Given the description of an element on the screen output the (x, y) to click on. 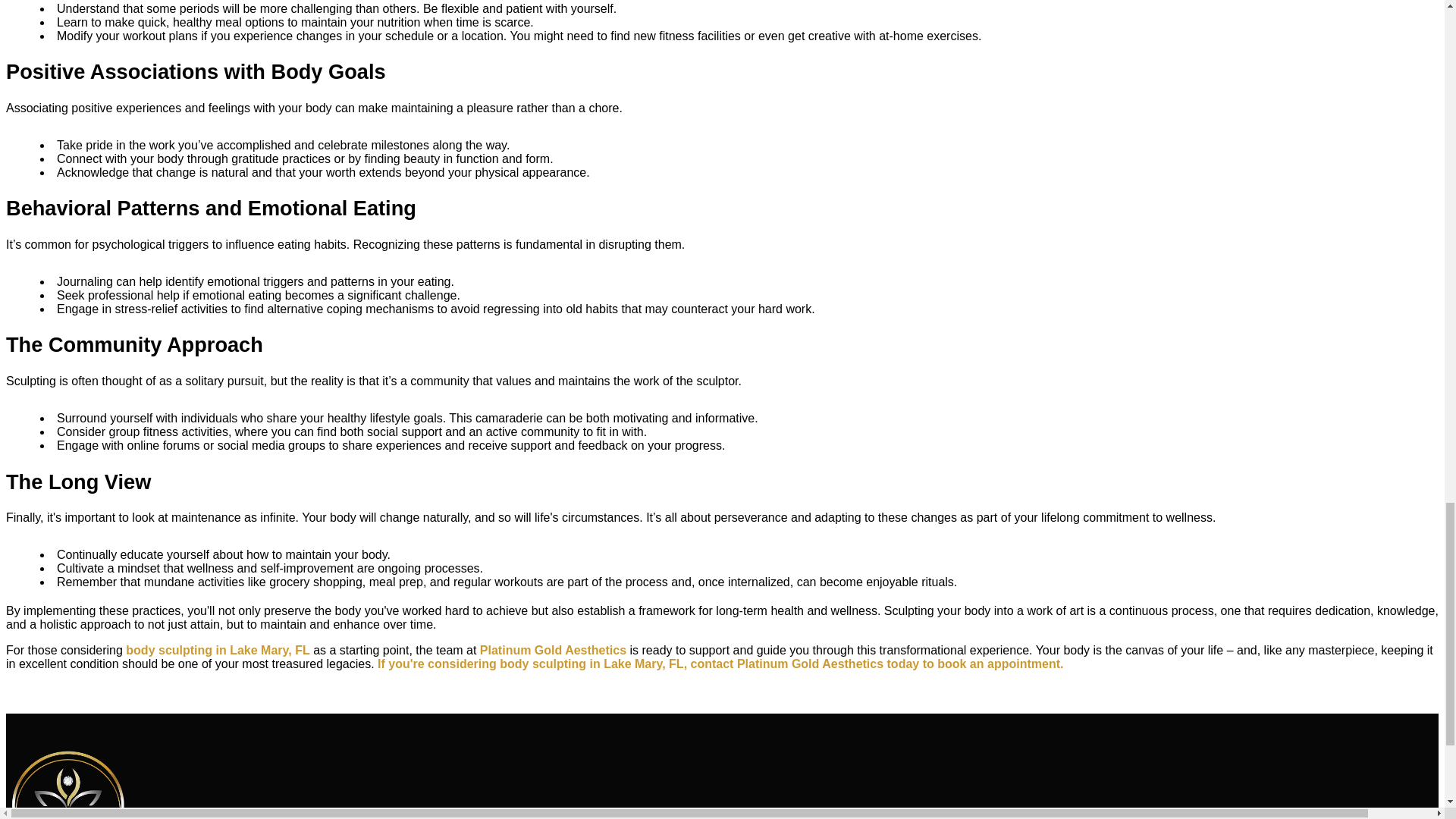
body sculpting in Lake Mary, FL (216, 649)
Platinum Gold Aesthetics (553, 649)
